Given the description of an element on the screen output the (x, y) to click on. 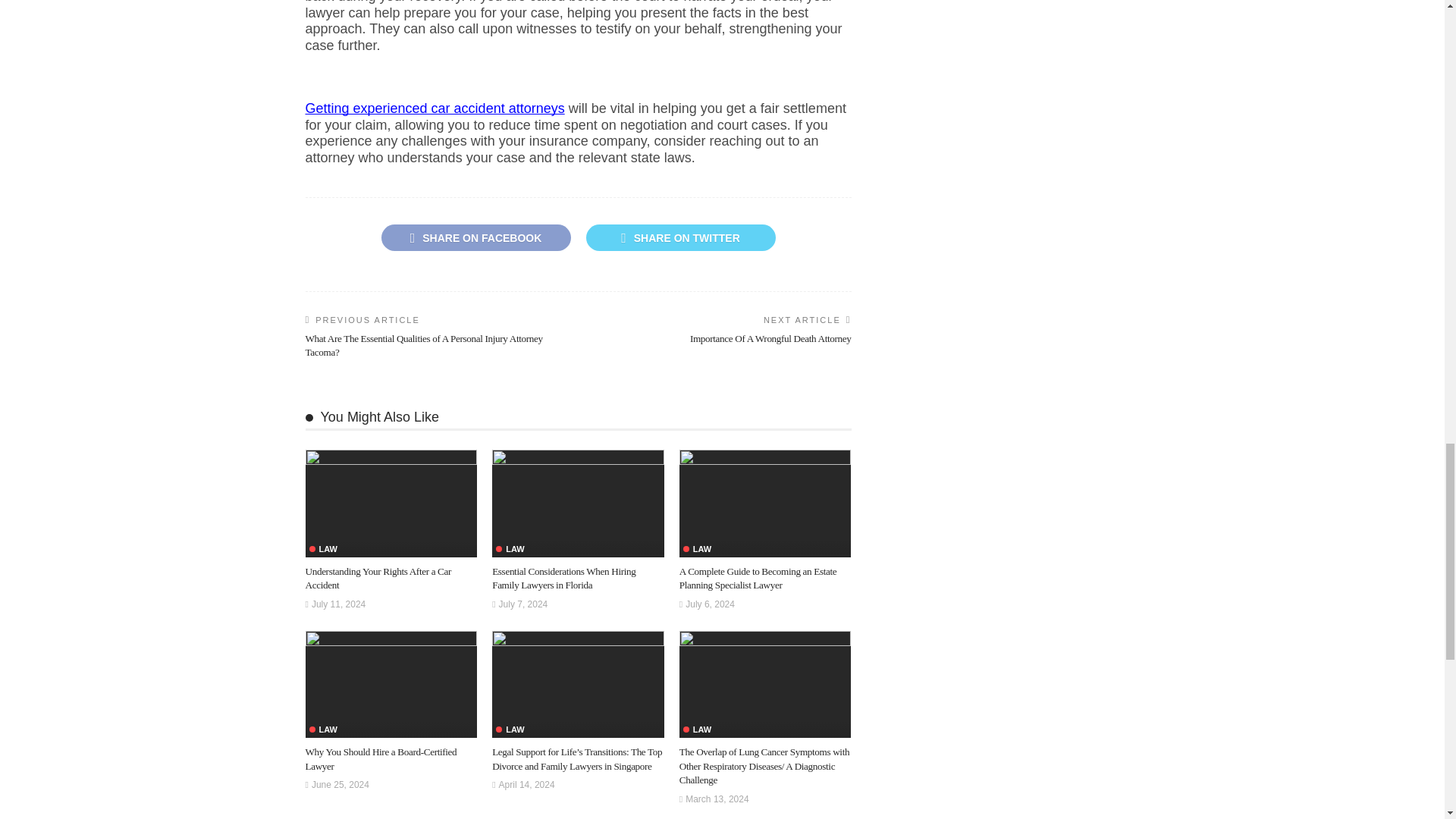
SHARE ON TWITTER (679, 237)
LAW (322, 549)
SHARE ON FACEBOOK (475, 237)
Understanding Your Rights After a Car Accident (377, 577)
Understanding Your Rights After a Car Accident (390, 503)
Getting experienced car accident attorneys (434, 108)
Understanding Your Rights After a Car Accident (377, 577)
